Given the description of an element on the screen output the (x, y) to click on. 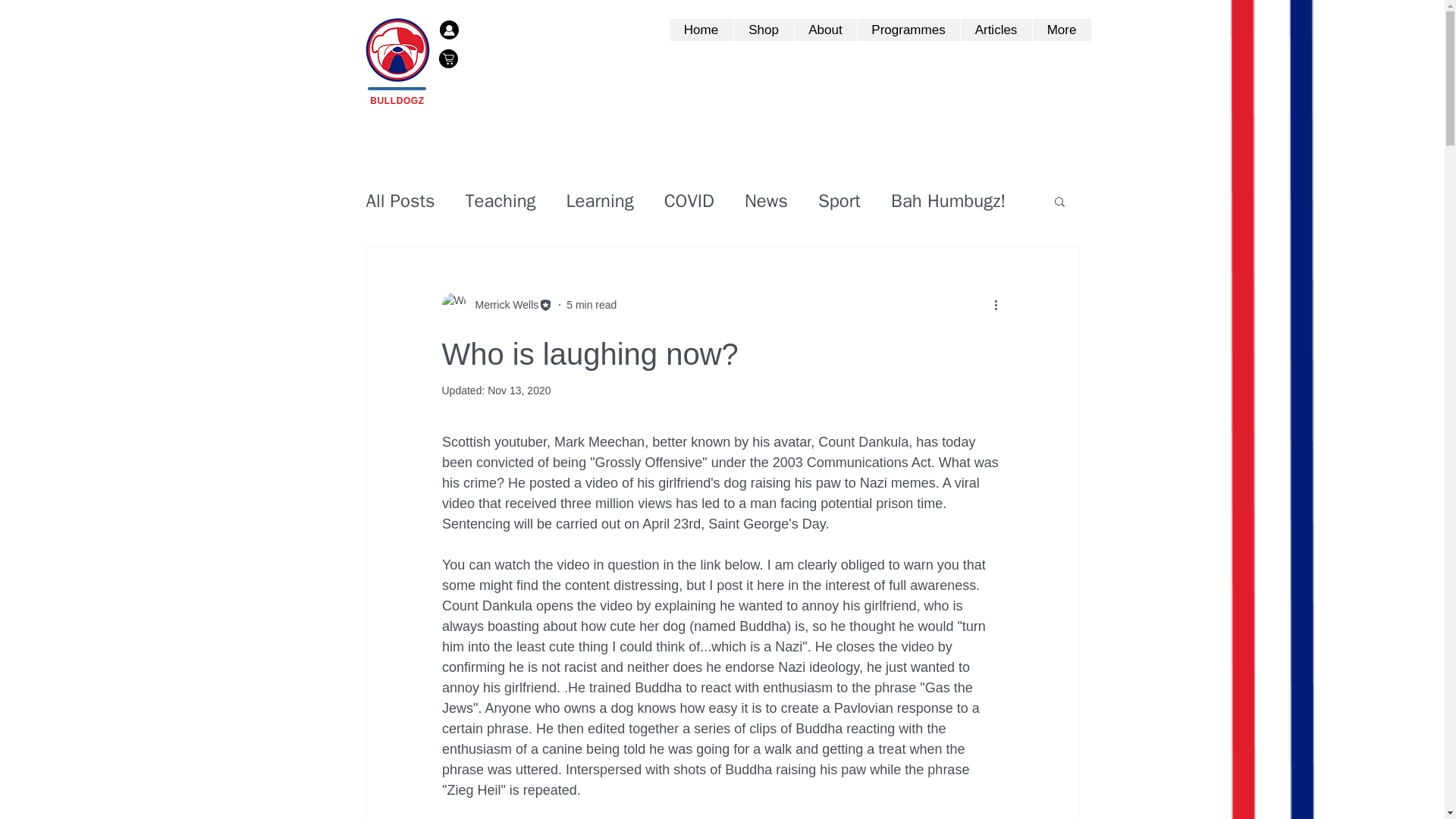
COVID (688, 200)
All Posts (399, 200)
Merrick Wells (501, 304)
5 min read (590, 304)
Sport (839, 200)
About (824, 29)
Shop (762, 29)
News (765, 200)
Learning (599, 200)
Nov 13, 2020 (518, 390)
BULLDOGZ (396, 100)
Teaching (500, 200)
Programmes (908, 29)
Home (700, 29)
Articles (995, 29)
